Given the description of an element on the screen output the (x, y) to click on. 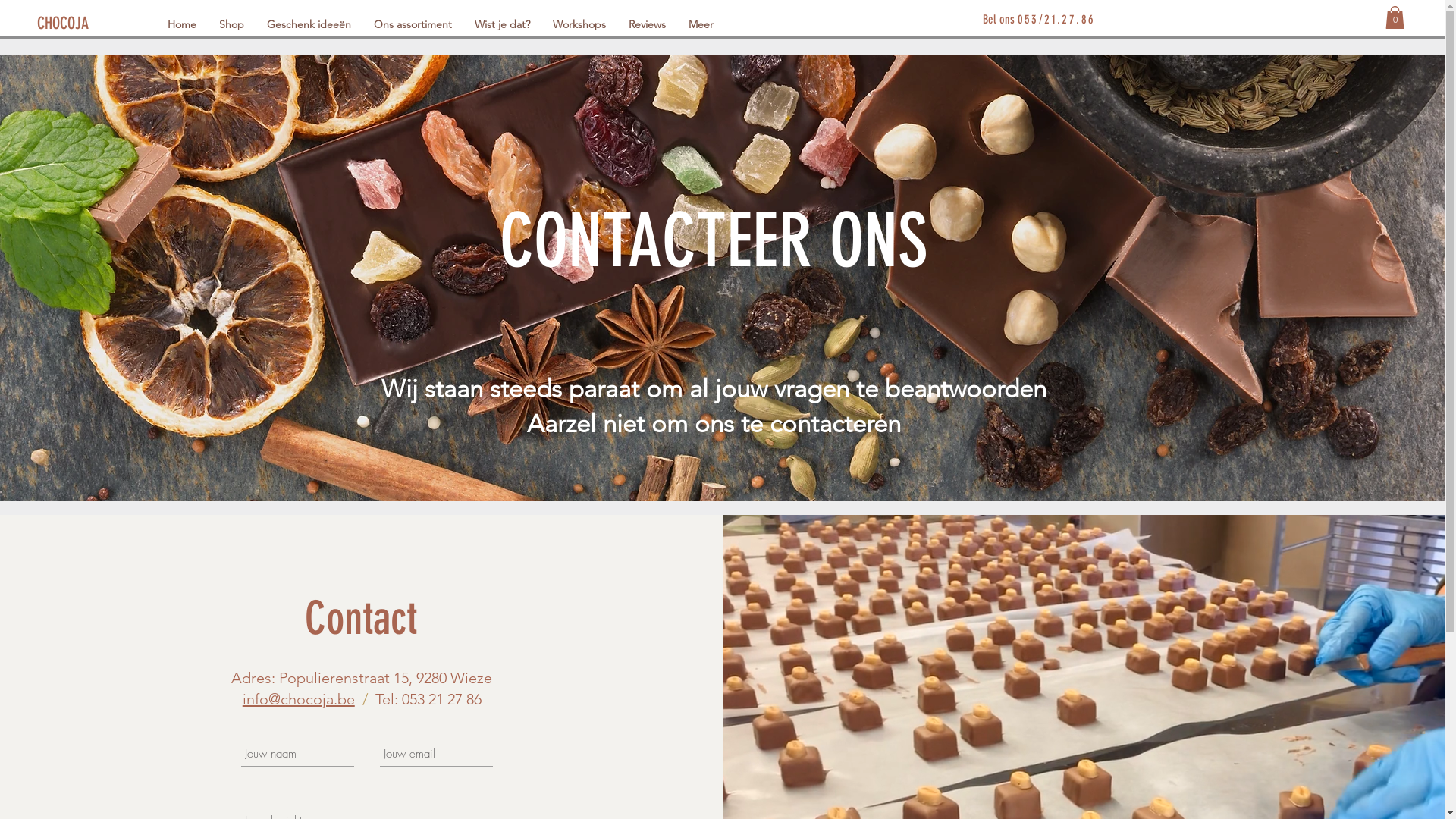
Shop Element type: text (231, 24)
Workshops Element type: text (579, 24)
CHOCOJA Element type: text (65, 23)
Home Element type: text (181, 24)
Reviews Element type: text (647, 24)
Wist je dat? Element type: text (502, 24)
Ons assortiment Element type: text (412, 24)
0 Element type: text (1394, 17)
info@chocoja.be Element type: text (298, 699)
